Given the description of an element on the screen output the (x, y) to click on. 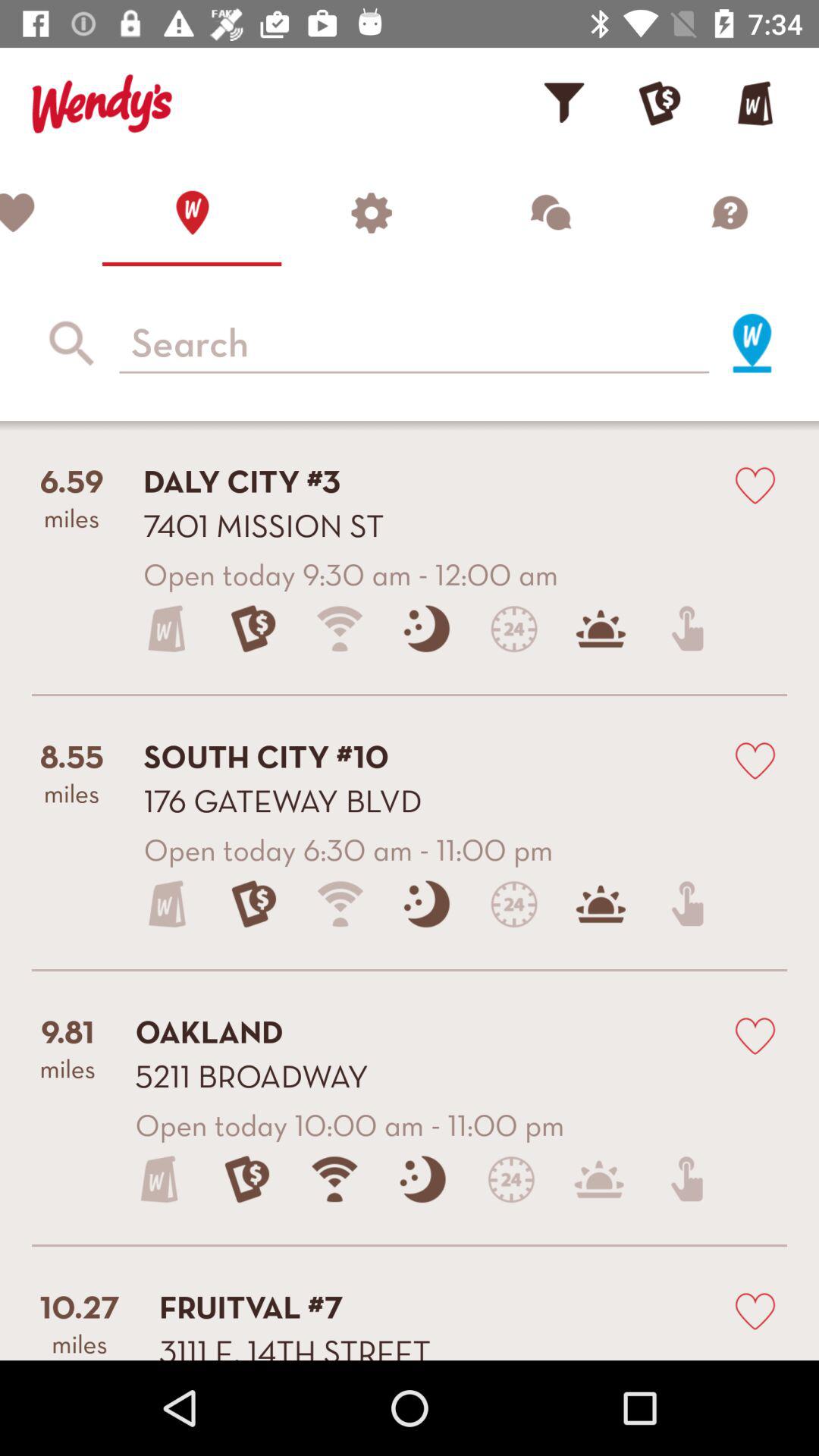
save the location to favorites (755, 759)
